Given the description of an element on the screen output the (x, y) to click on. 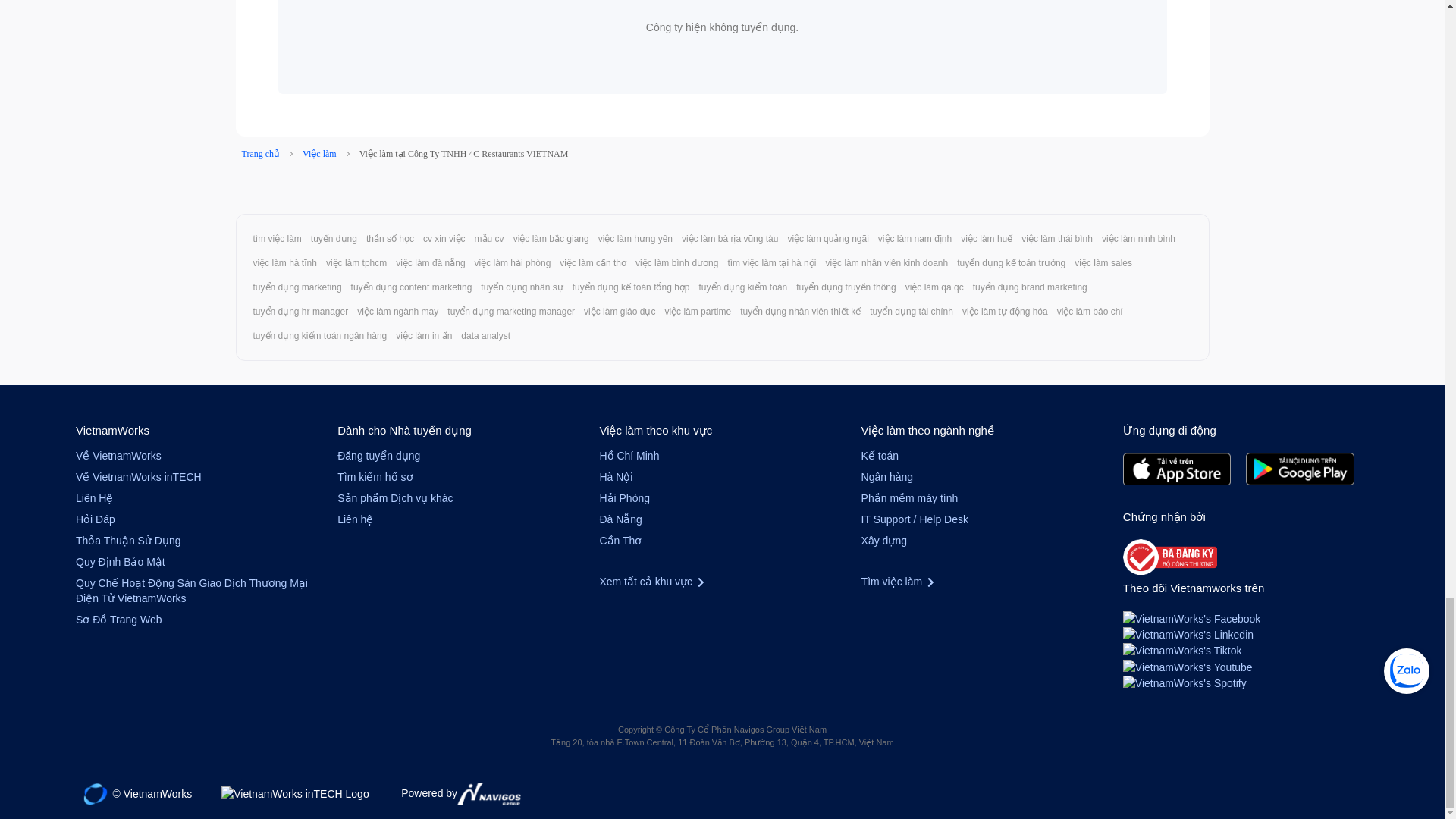
VietnamWorks's Facebook (1191, 617)
VietnamWorks's Tiktok (1181, 649)
VietnamWorks's Linkedin (1187, 633)
